Given the description of an element on the screen output the (x, y) to click on. 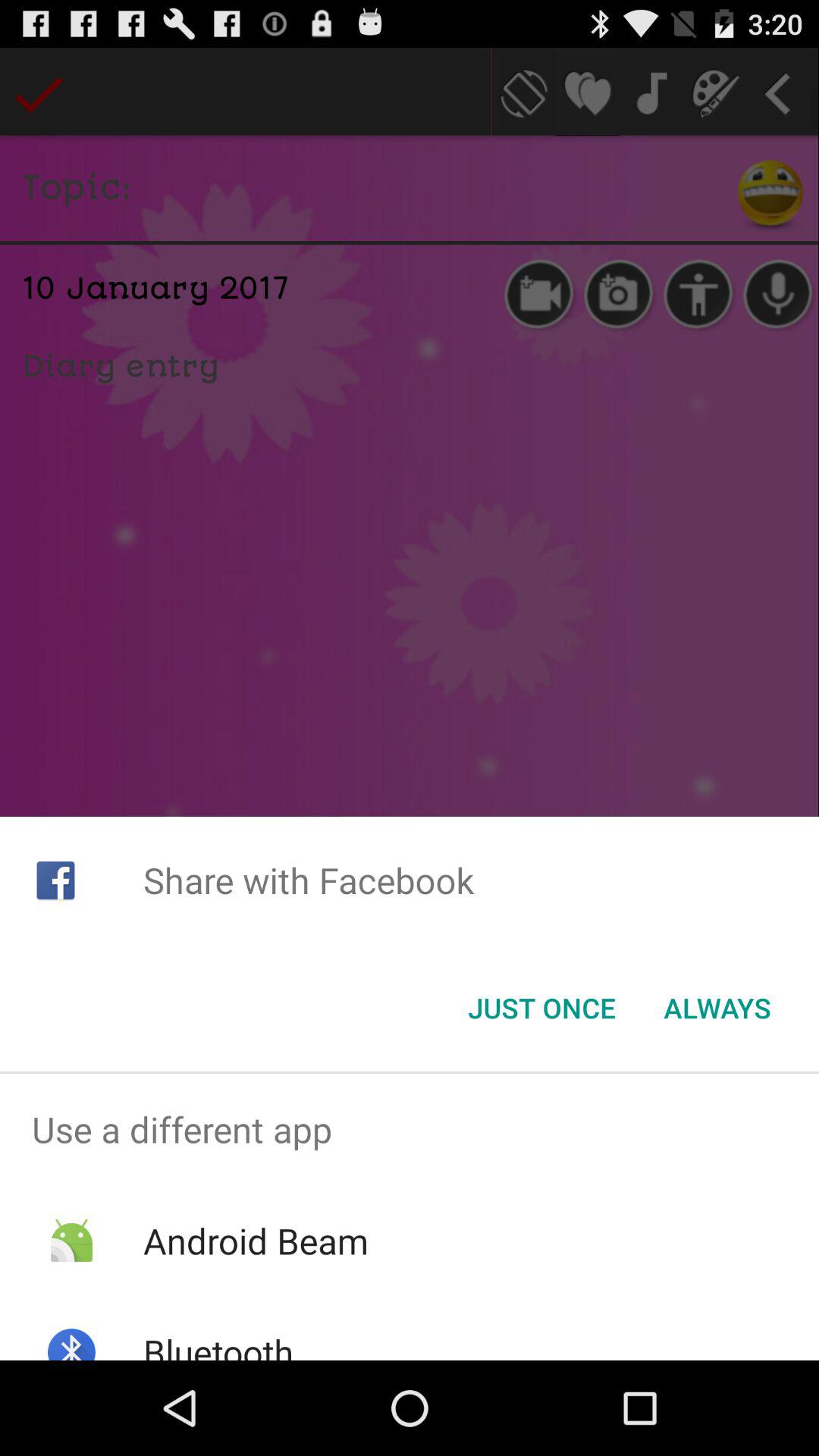
launch the android beam item (255, 1240)
